Given the description of an element on the screen output the (x, y) to click on. 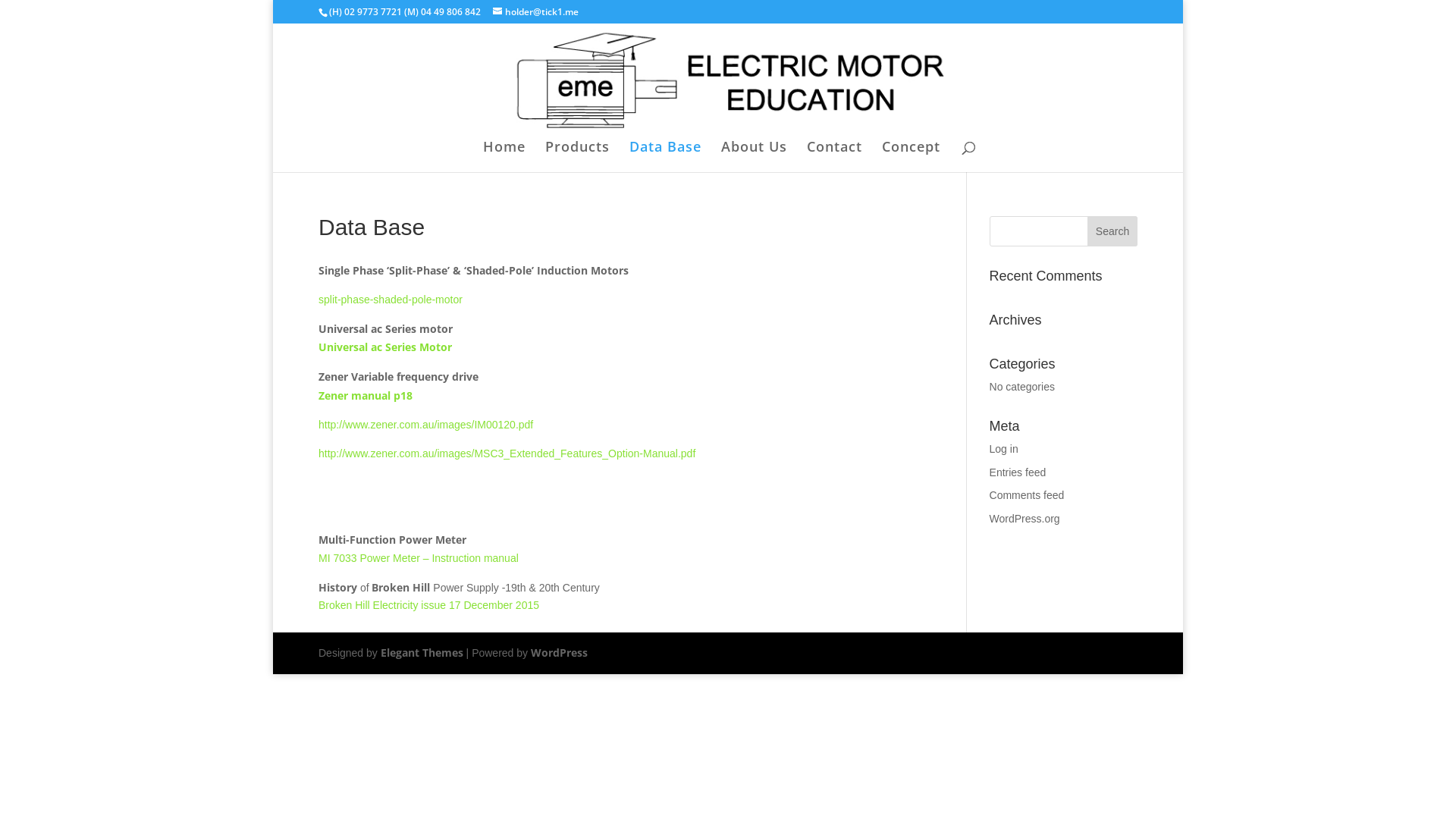
http://www.zener.com.au/images/IM00120.pdf Element type: text (425, 424)
holder@tick1.me Element type: text (535, 11)
Elegant Themes Element type: text (421, 652)
Concept Element type: text (910, 156)
Comments feed Element type: text (1026, 495)
Log in Element type: text (1003, 448)
Contact Element type: text (834, 156)
Entries feed Element type: text (1017, 472)
Universal ac Series Motor Element type: text (384, 346)
Broken Hill Electricity issue 17 December 2015 Element type: text (428, 605)
Products Element type: text (576, 156)
split-phase-shaded-pole-motor Element type: text (390, 299)
Search Element type: text (1112, 231)
Zener manual p18 Element type: text (365, 395)
Data Base Element type: text (665, 156)
Home Element type: text (503, 156)
About Us Element type: text (753, 156)
WordPress Element type: text (558, 652)
WordPress.org Element type: text (1024, 518)
